Given the description of an element on the screen output the (x, y) to click on. 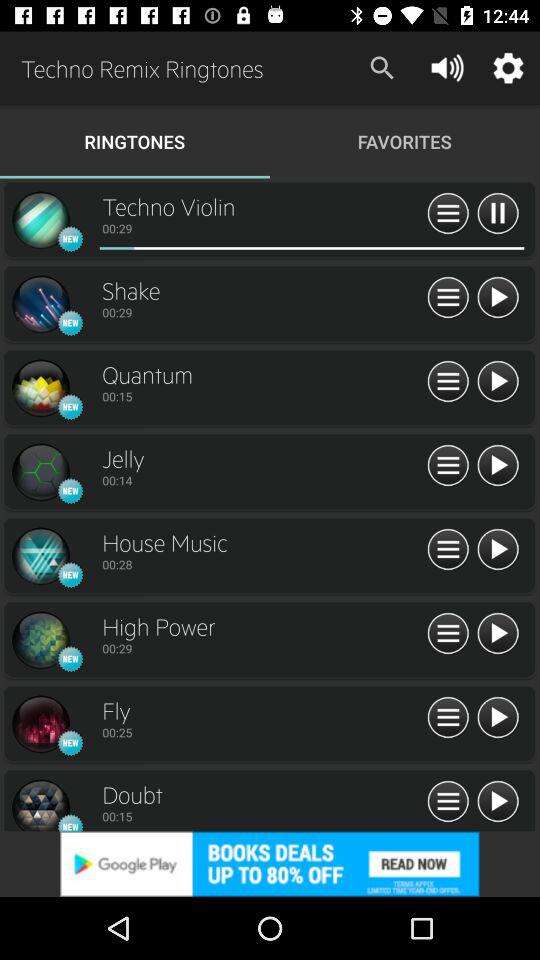
select option (447, 549)
